Given the description of an element on the screen output the (x, y) to click on. 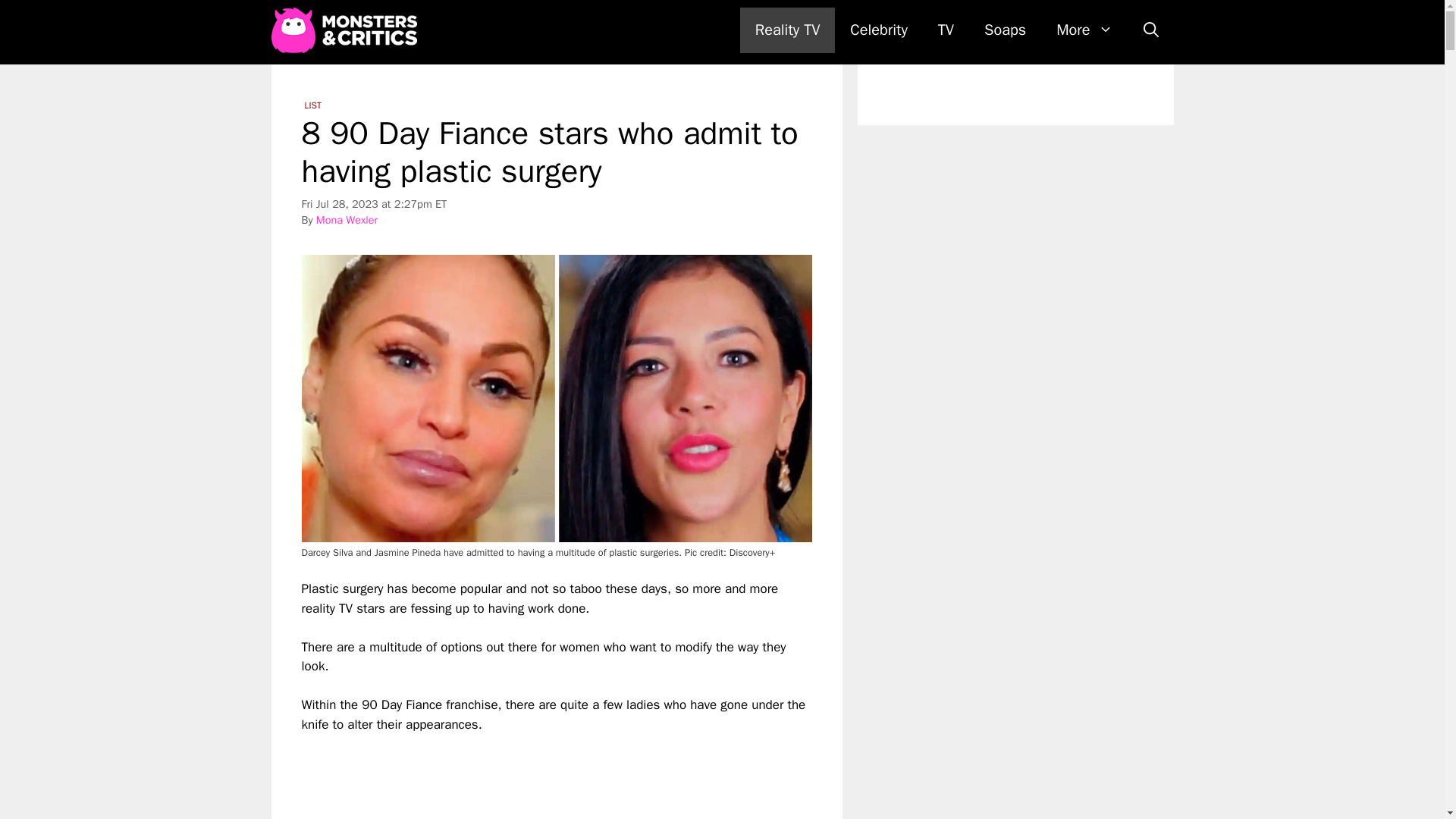
Monsters and Critics (347, 30)
Reality TV (787, 30)
Soaps (1005, 30)
Mona Wexler (346, 219)
TV (946, 30)
YouTube video player (513, 776)
More (1083, 30)
Monsters and Critics (343, 30)
View all posts by Mona Wexler (346, 219)
Celebrity (877, 30)
